Given the description of an element on the screen output the (x, y) to click on. 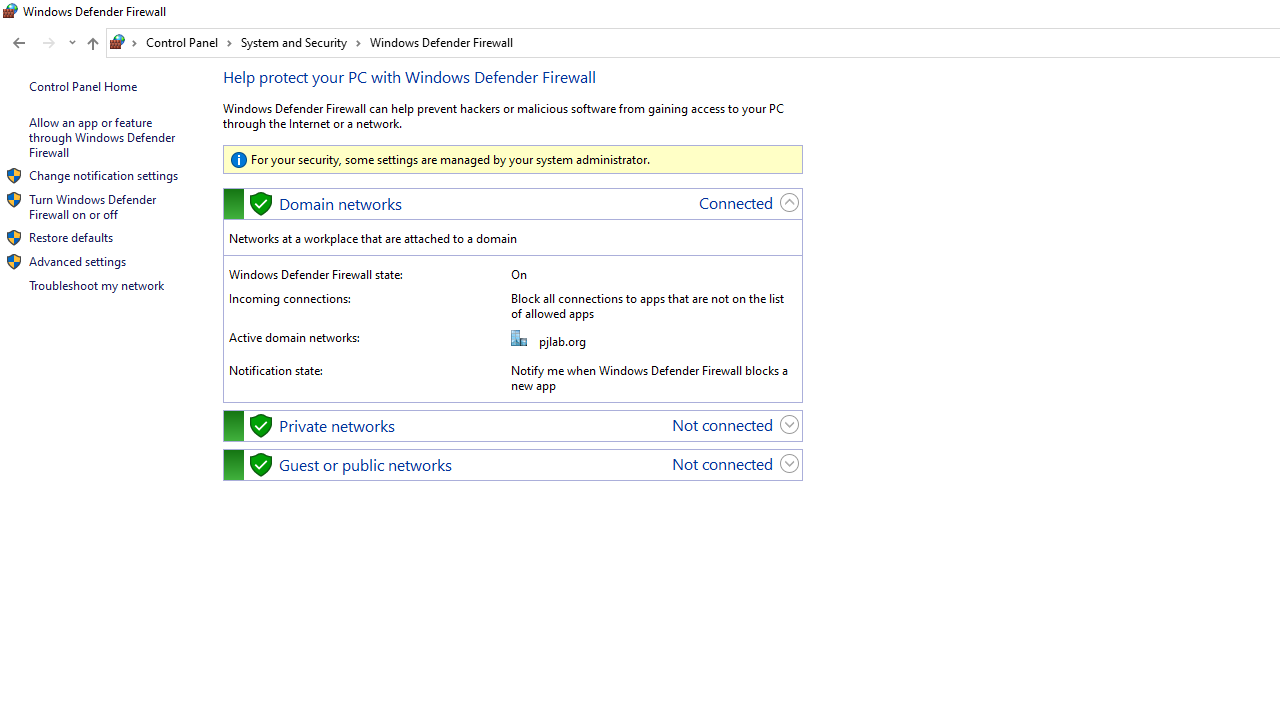
Navigation buttons (41, 43)
Up band toolbar (92, 46)
System (10, 11)
Up to "System and Security" (Alt + Up Arrow) (92, 43)
Advanced settings (77, 261)
Allow an app or feature through Windows Defender Firewall (103, 137)
Turn Windows Defender Firewall on or off (93, 206)
